Given the description of an element on the screen output the (x, y) to click on. 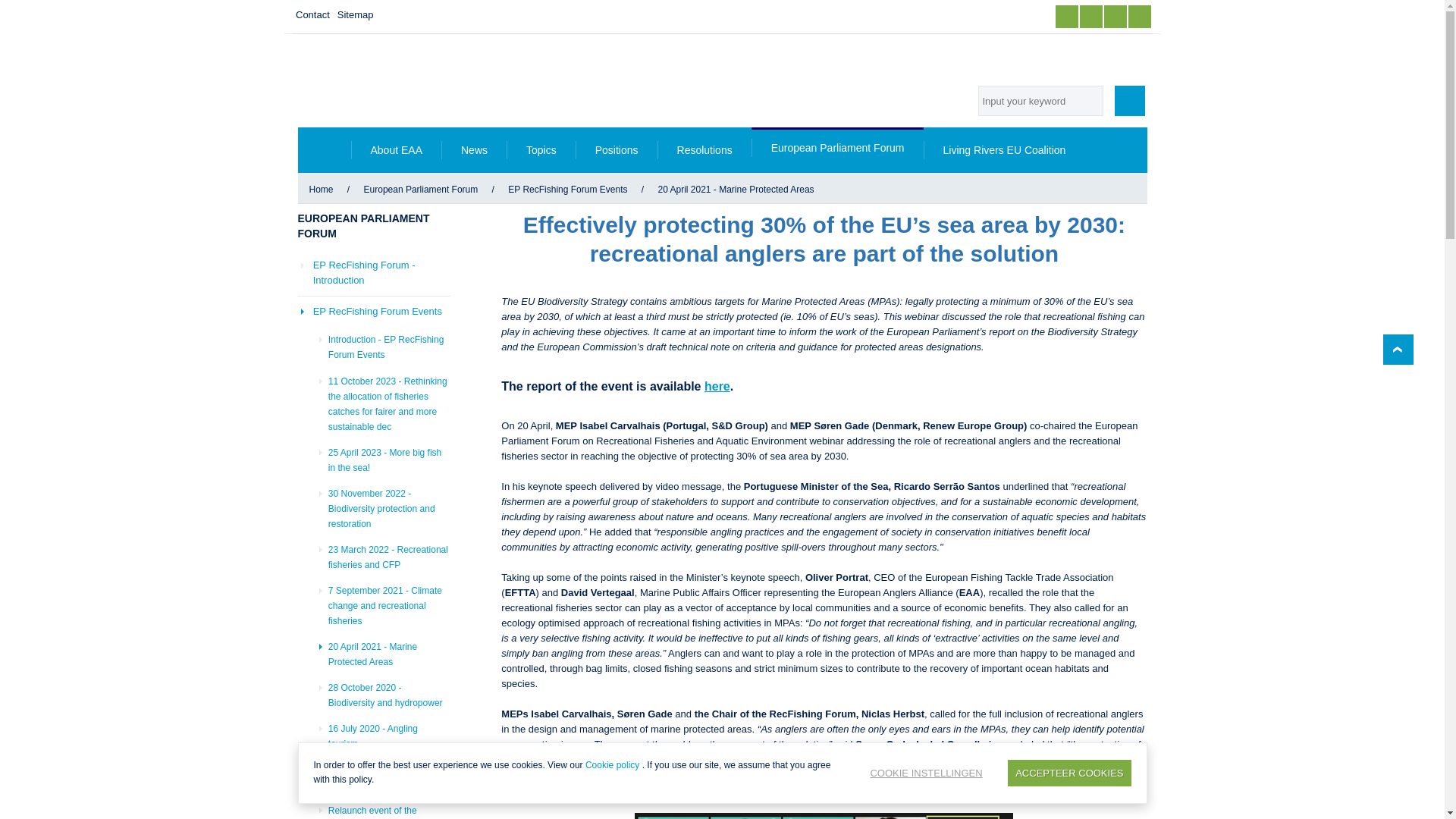
Twitter (1091, 15)
Sitemap (355, 15)
About EAA (395, 149)
Contact (312, 15)
Search (1129, 100)
Facebook (1066, 15)
News (473, 149)
Youtube (1114, 15)
About EAA (395, 149)
RSS (1139, 15)
